Given the description of an element on the screen output the (x, y) to click on. 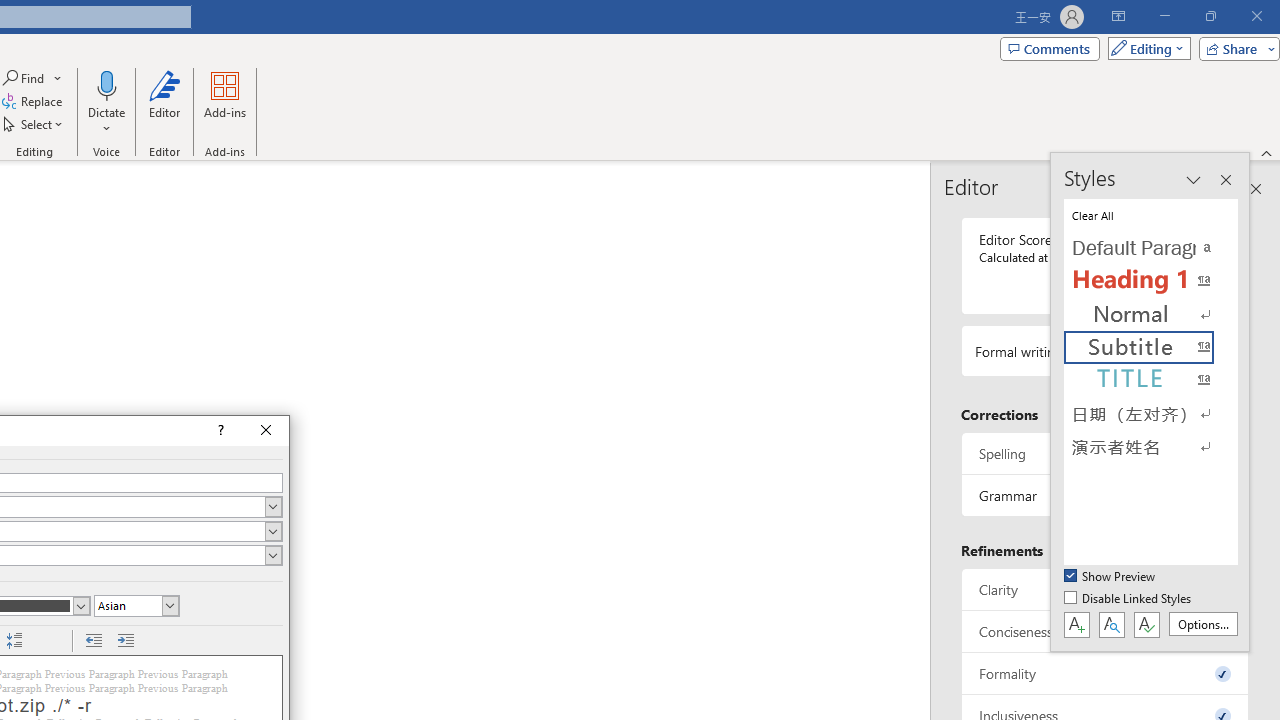
Normal (1150, 314)
Subtitle (1150, 347)
Show Preview (1110, 577)
Conciseness, 0 issues. Press space or enter to review items. (1105, 631)
Heading 1 (1150, 281)
Context help (219, 430)
